Given the description of an element on the screen output the (x, y) to click on. 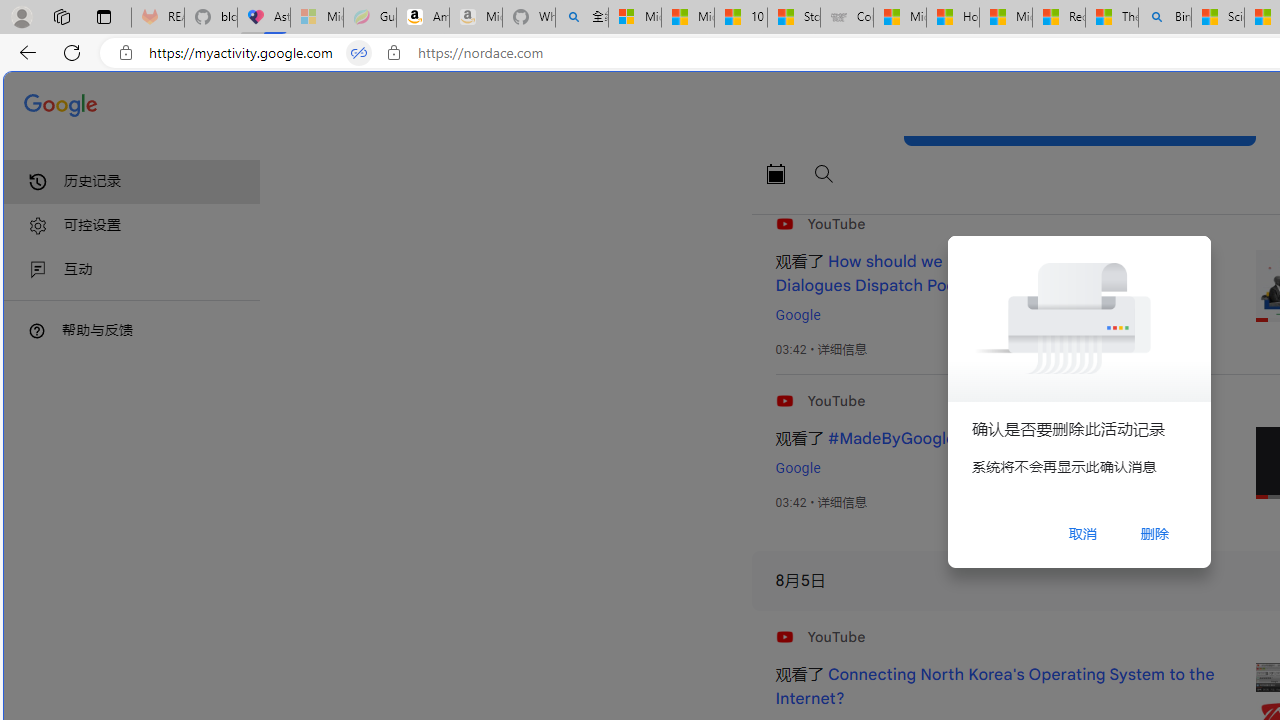
Connecting North Korea's Operating System to the Internet? (994, 687)
Tabs in split screen (358, 53)
